Given the description of an element on the screen output the (x, y) to click on. 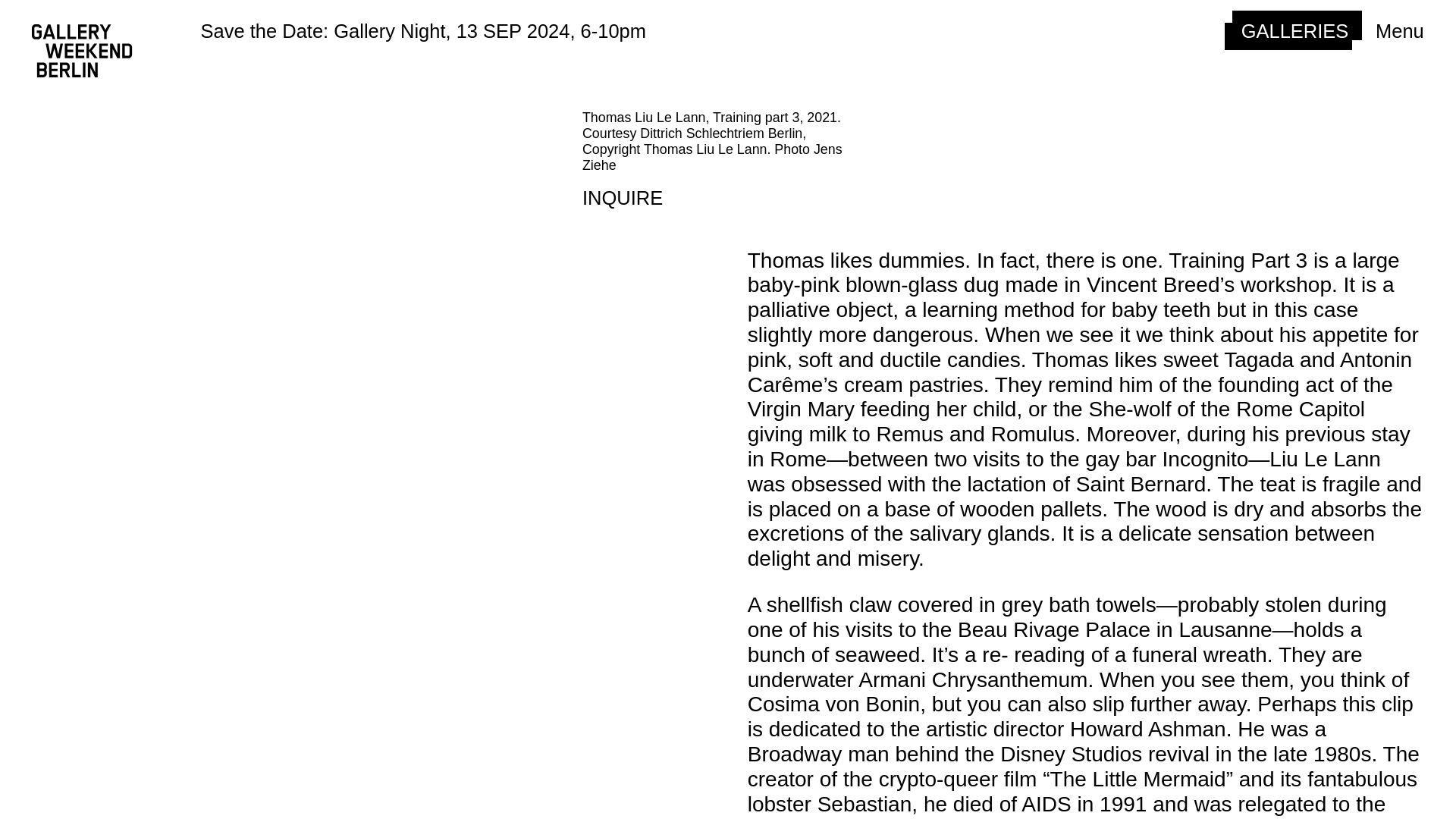
INQUIRE (622, 198)
